Given the description of an element on the screen output the (x, y) to click on. 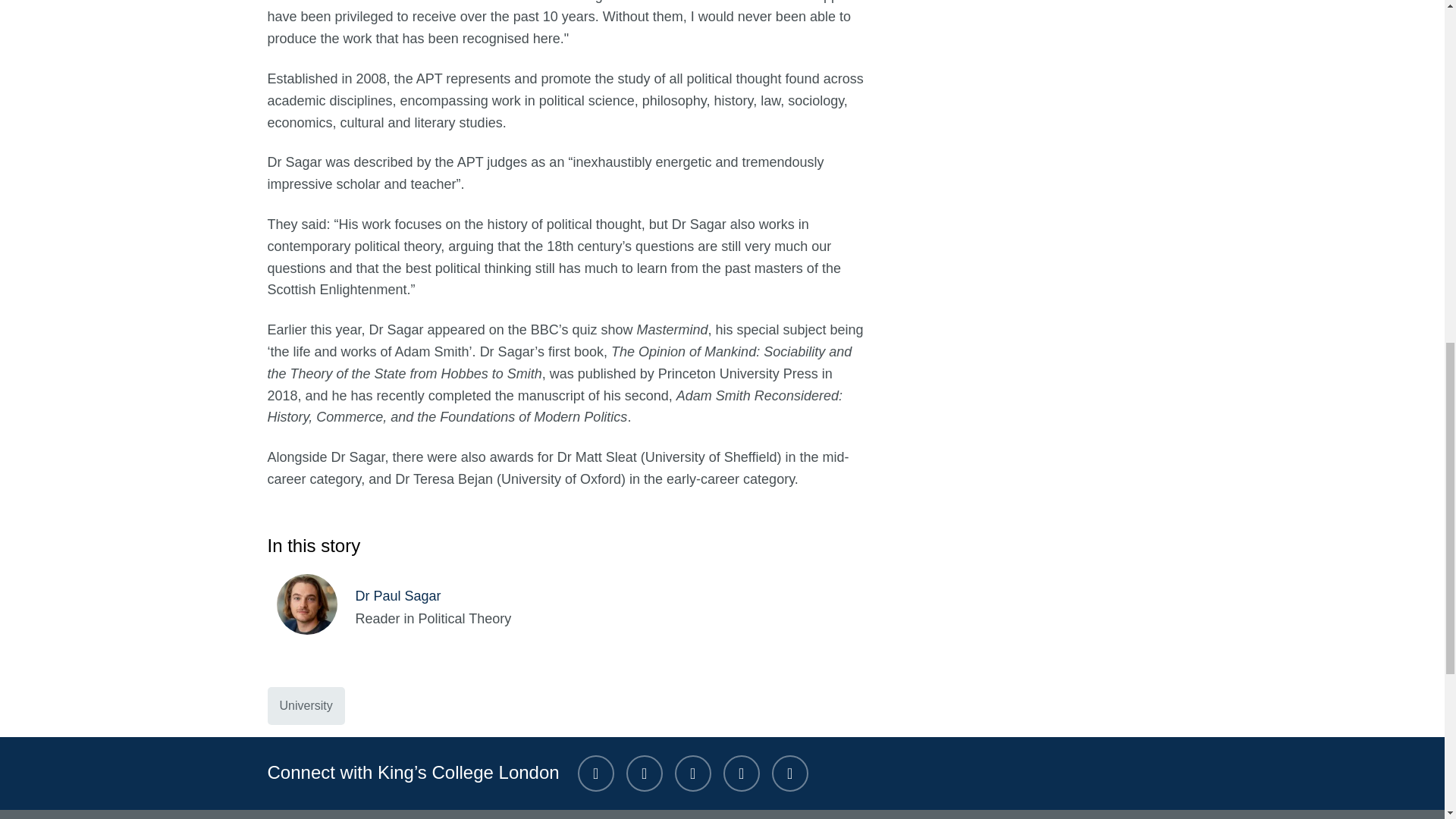
Dr Paul Sagar  (315, 606)
